Given the description of an element on the screen output the (x, y) to click on. 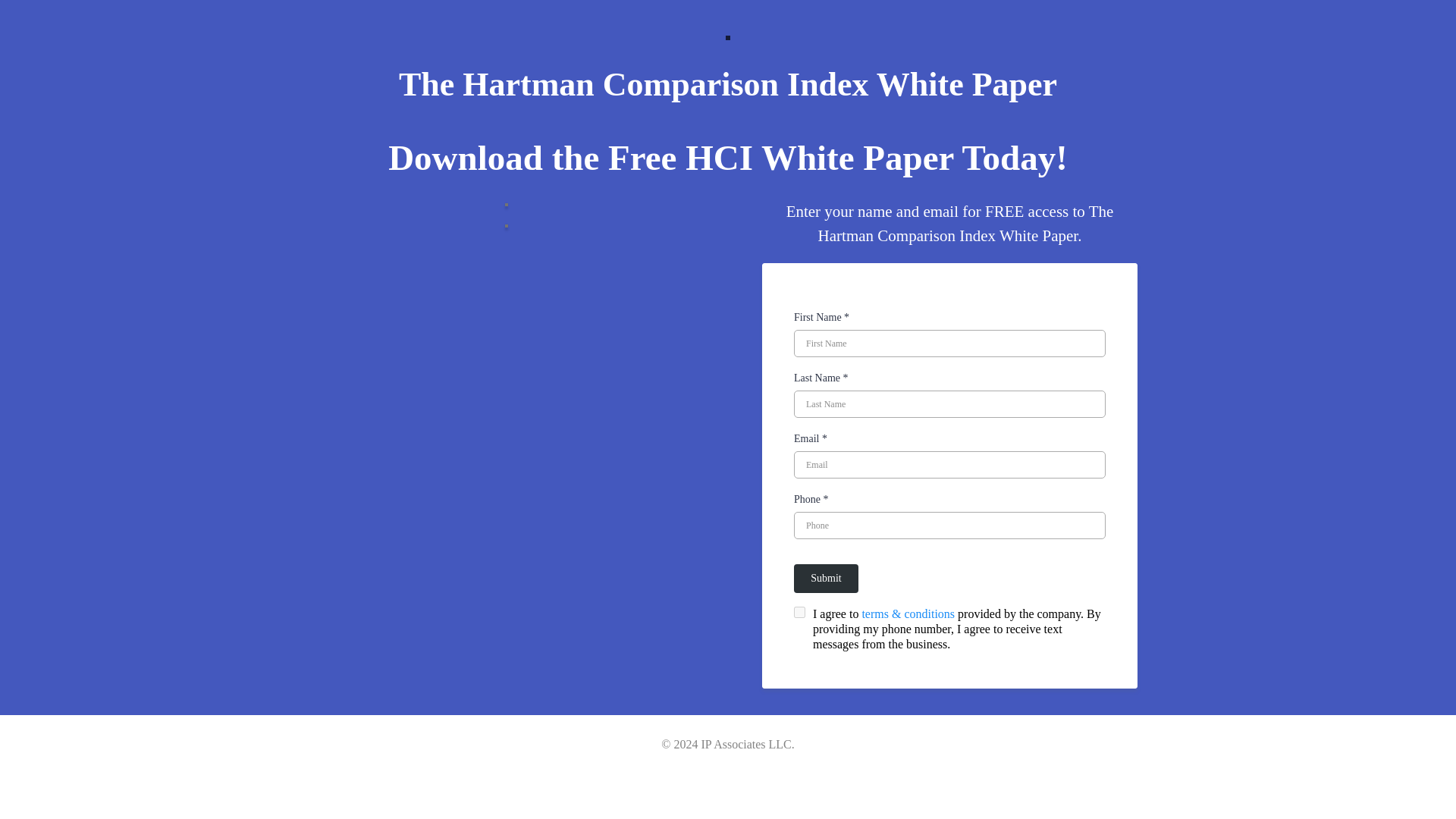
Submit (826, 578)
